Given the description of an element on the screen output the (x, y) to click on. 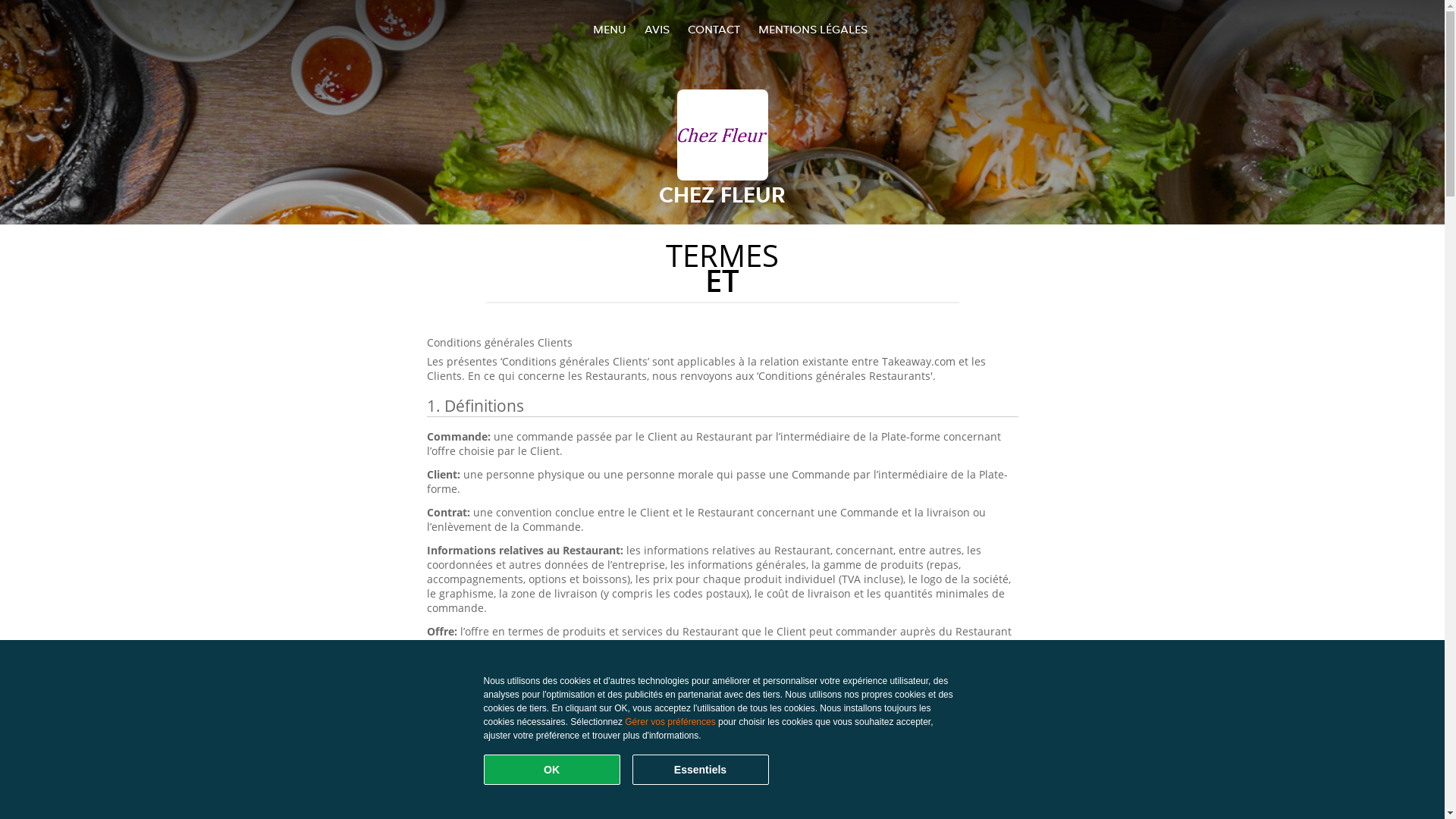
OK Element type: text (551, 769)
Essentiels Element type: text (700, 769)
AVIS Element type: text (656, 29)
MENU Element type: text (609, 29)
CONTACT Element type: text (713, 29)
